Given the description of an element on the screen output the (x, y) to click on. 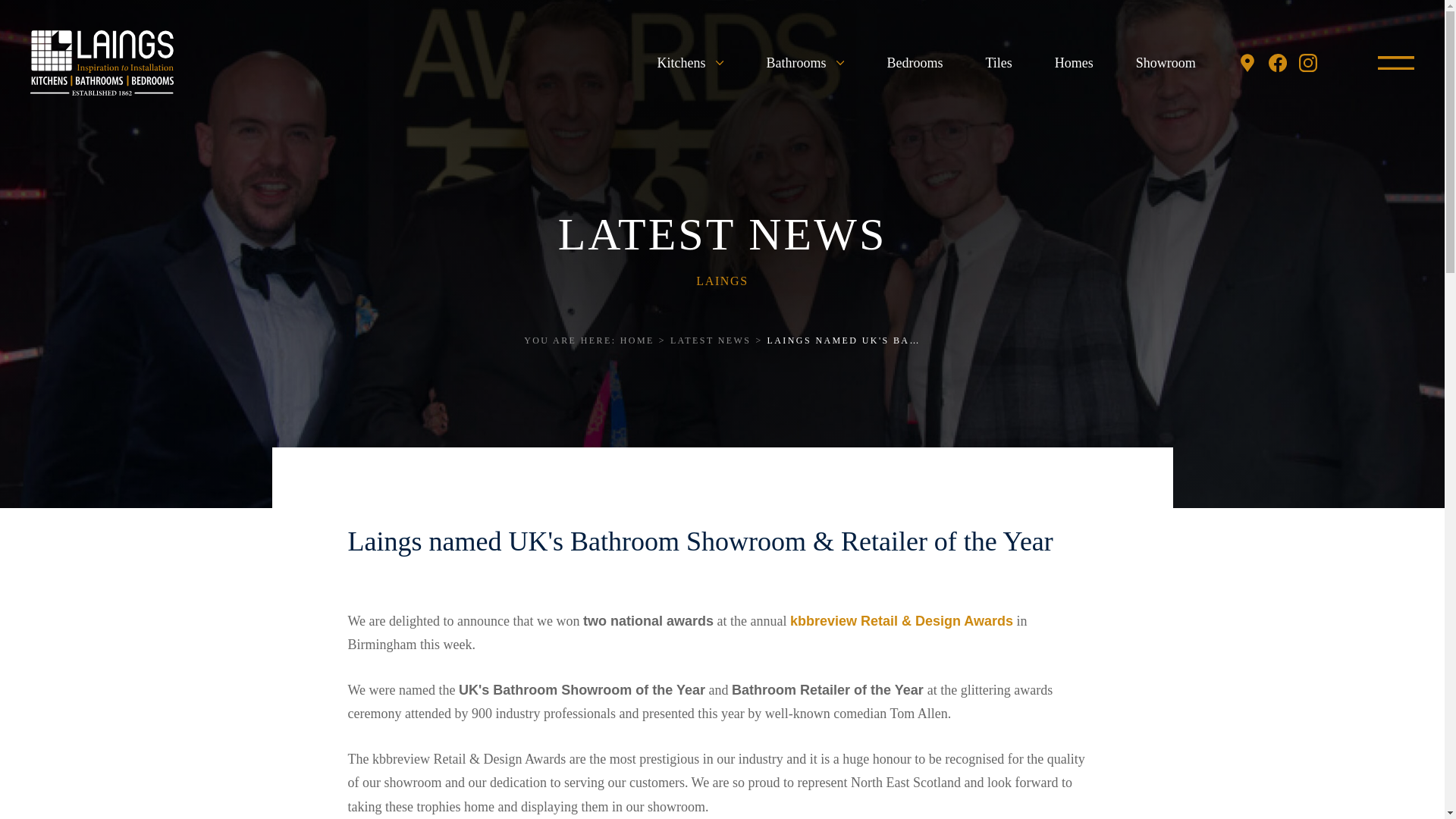
Showroom (1165, 62)
Kitchens (689, 62)
Open Navigation (1395, 62)
Bedrooms (914, 62)
Homes (1073, 62)
Tiles (998, 62)
Bathrooms (804, 62)
